Given the description of an element on the screen output the (x, y) to click on. 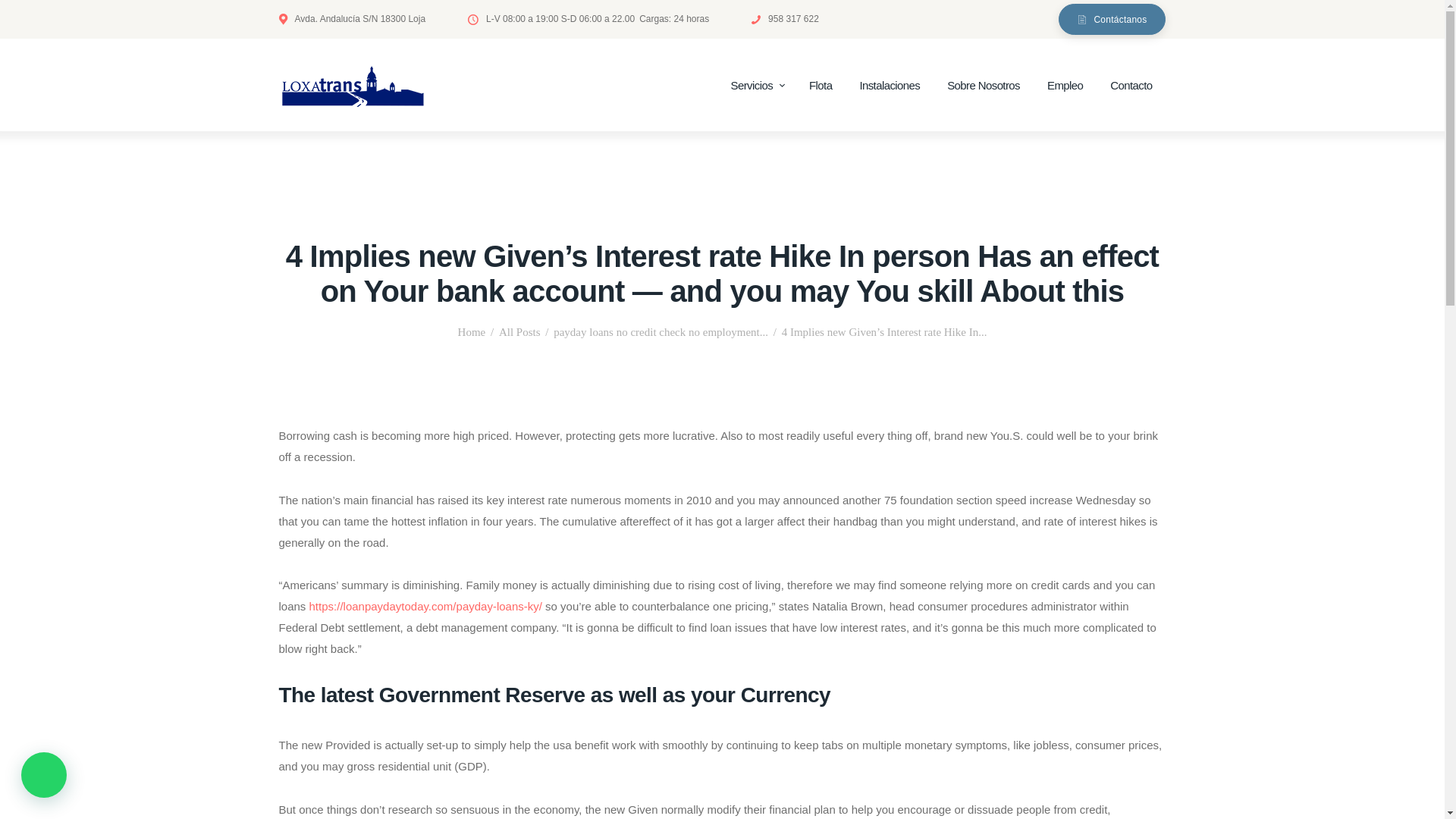
Home (472, 332)
Contacto (1131, 86)
Empleo (1064, 86)
958 317 622 (784, 19)
payday loans no credit check no employment... (660, 332)
Instalaciones (889, 86)
Sobre Nosotros (983, 86)
Flota (819, 86)
All Posts (519, 331)
Servicios (755, 86)
